Given the description of an element on the screen output the (x, y) to click on. 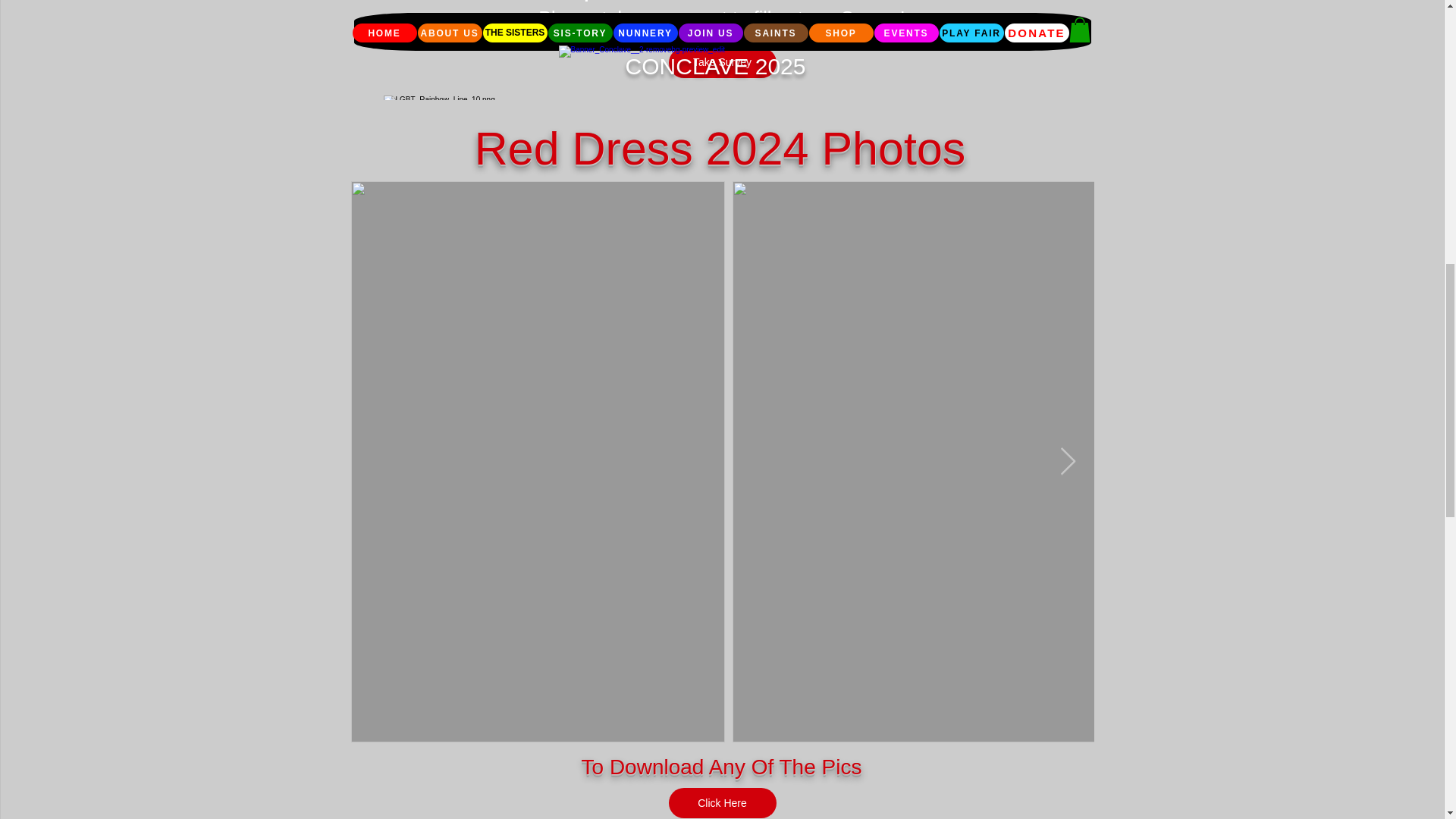
Click Here (722, 802)
Take Survey (722, 62)
